Given the description of an element on the screen output the (x, y) to click on. 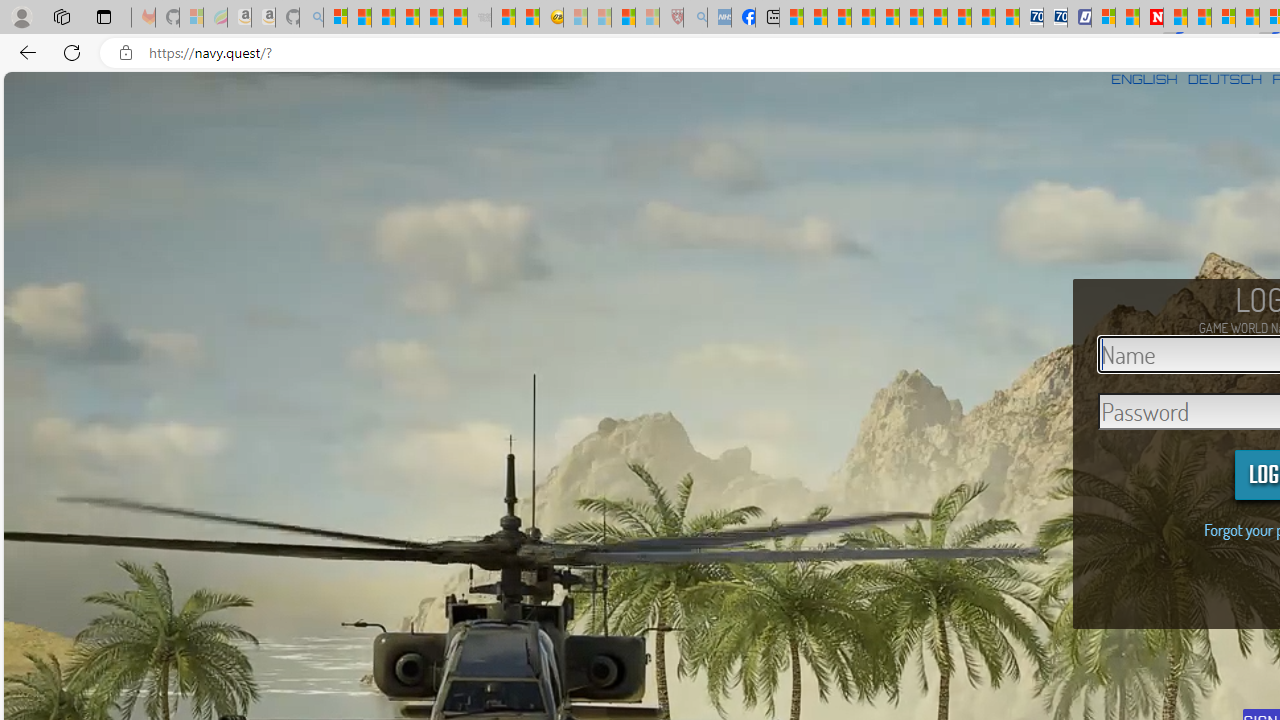
The Weather Channel - MSN (383, 17)
Climate Damage Becomes Too Severe To Reverse (863, 17)
New Report Confirms 2023 Was Record Hot | Watch (430, 17)
ENGLISH (1144, 79)
